Given the description of an element on the screen output the (x, y) to click on. 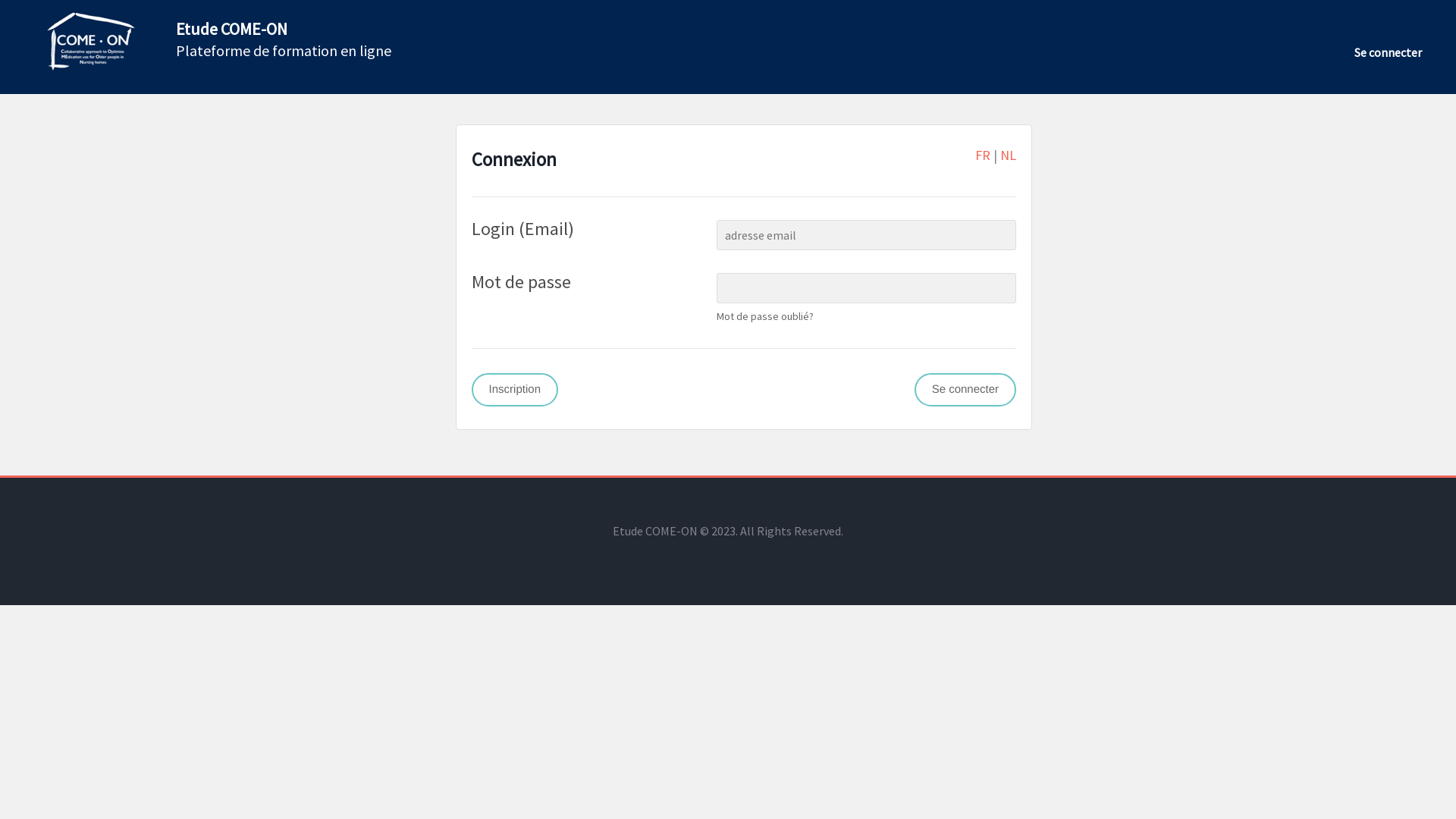
FR Element type: text (982, 154)
Se connecter Element type: text (965, 389)
NL Element type: text (1008, 154)
Se connecter Element type: text (1387, 51)
Etude COME-ON Element type: text (231, 28)
Inscription Element type: text (514, 389)
